Given the description of an element on the screen output the (x, y) to click on. 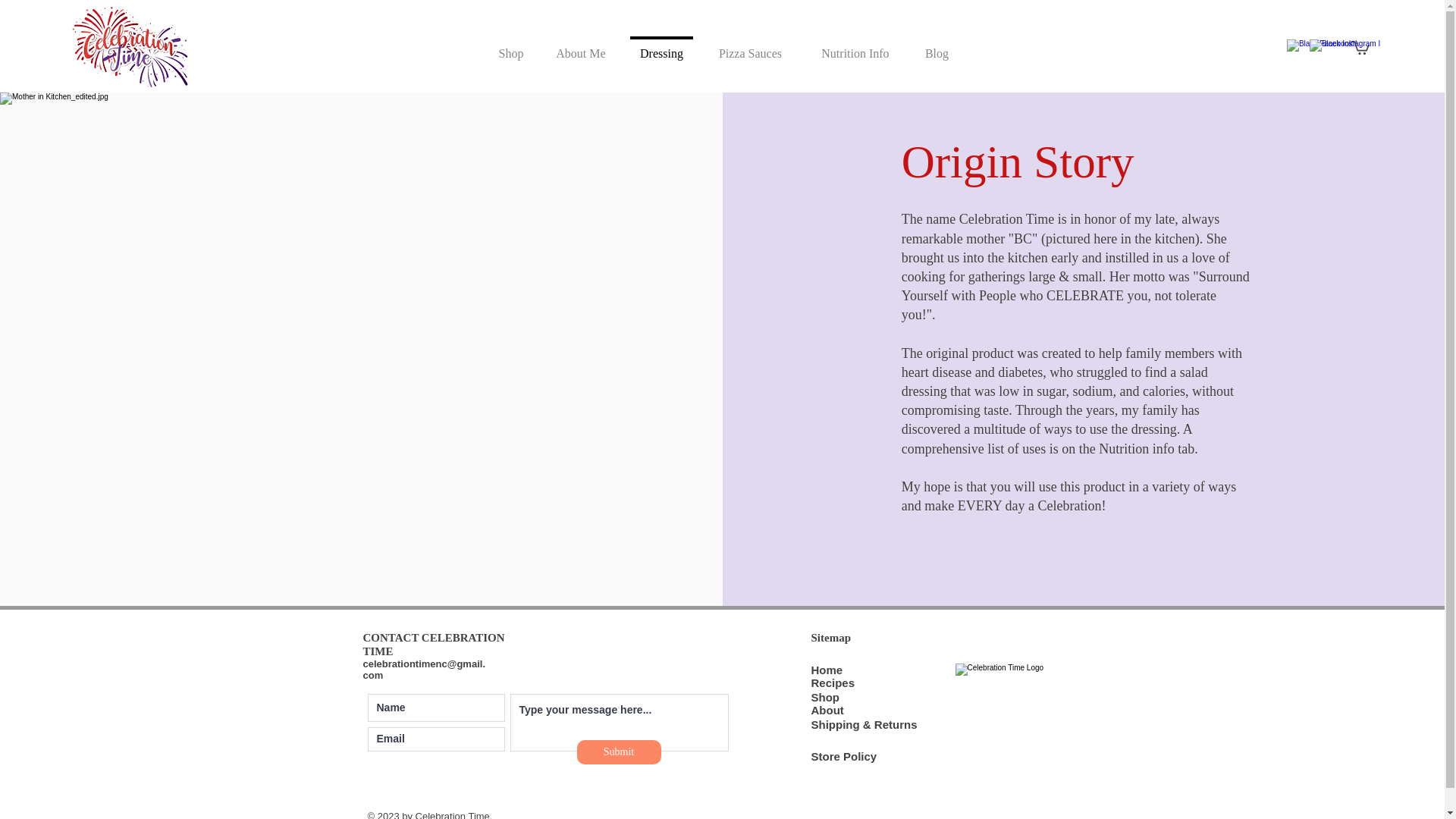
Home (826, 669)
Shop (510, 46)
Submit (618, 752)
Store Policy (843, 756)
Shop (825, 697)
About Me (580, 46)
Nutrition Info (855, 46)
Pizza Sauces (749, 46)
Recipes (833, 682)
Dressing (661, 46)
